Given the description of an element on the screen output the (x, y) to click on. 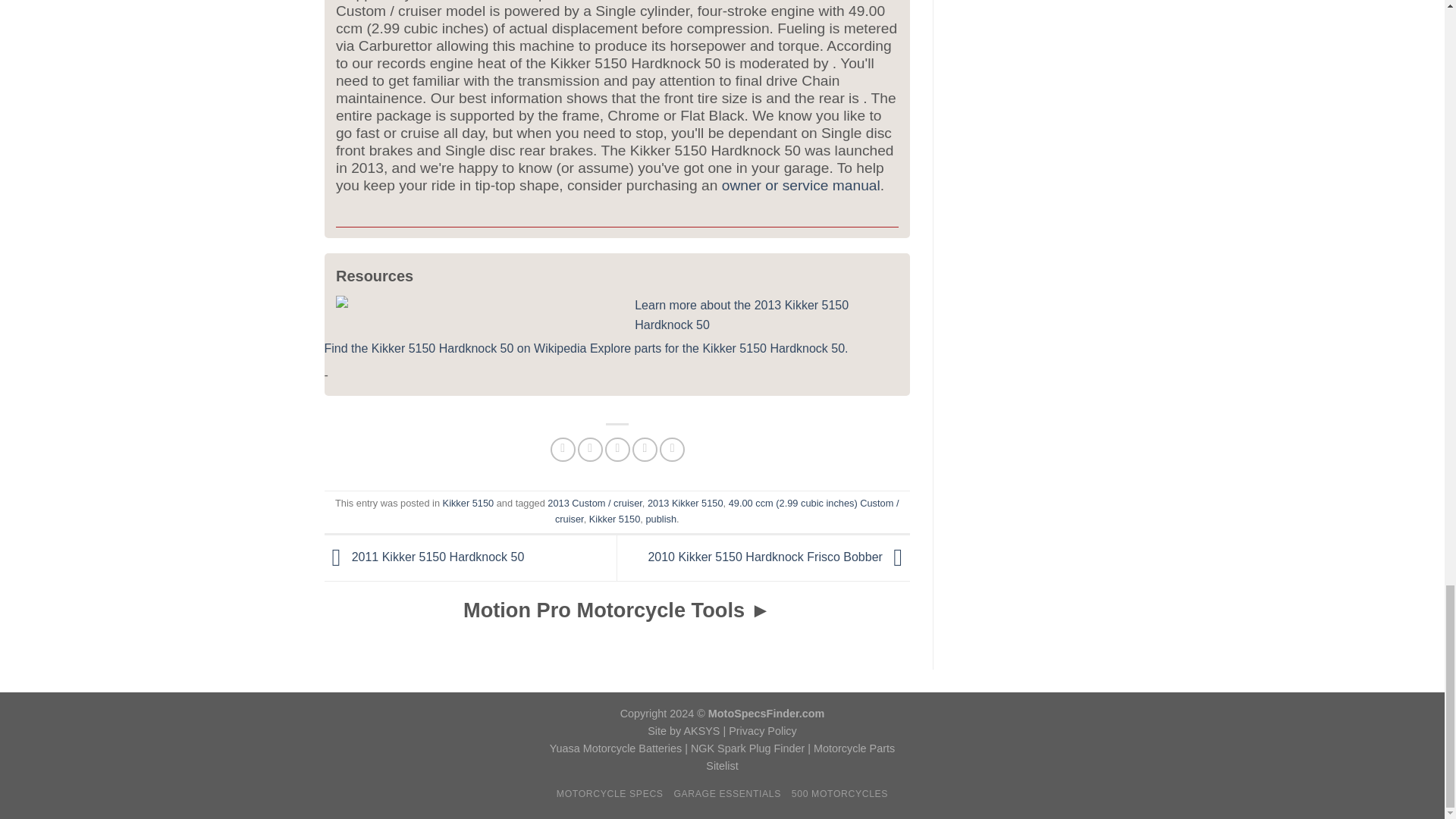
Explore parts for the Kikker 5150 Hardknock 50. (718, 348)
Find the correct Yuasa batteries for your motorcycle. (615, 748)
Explore parts for the Kikker 5150 Hardknock 50. (718, 348)
Privacy Policy (762, 730)
owner or service manual (801, 185)
Kikker 5150 (468, 502)
